Given the description of an element on the screen output the (x, y) to click on. 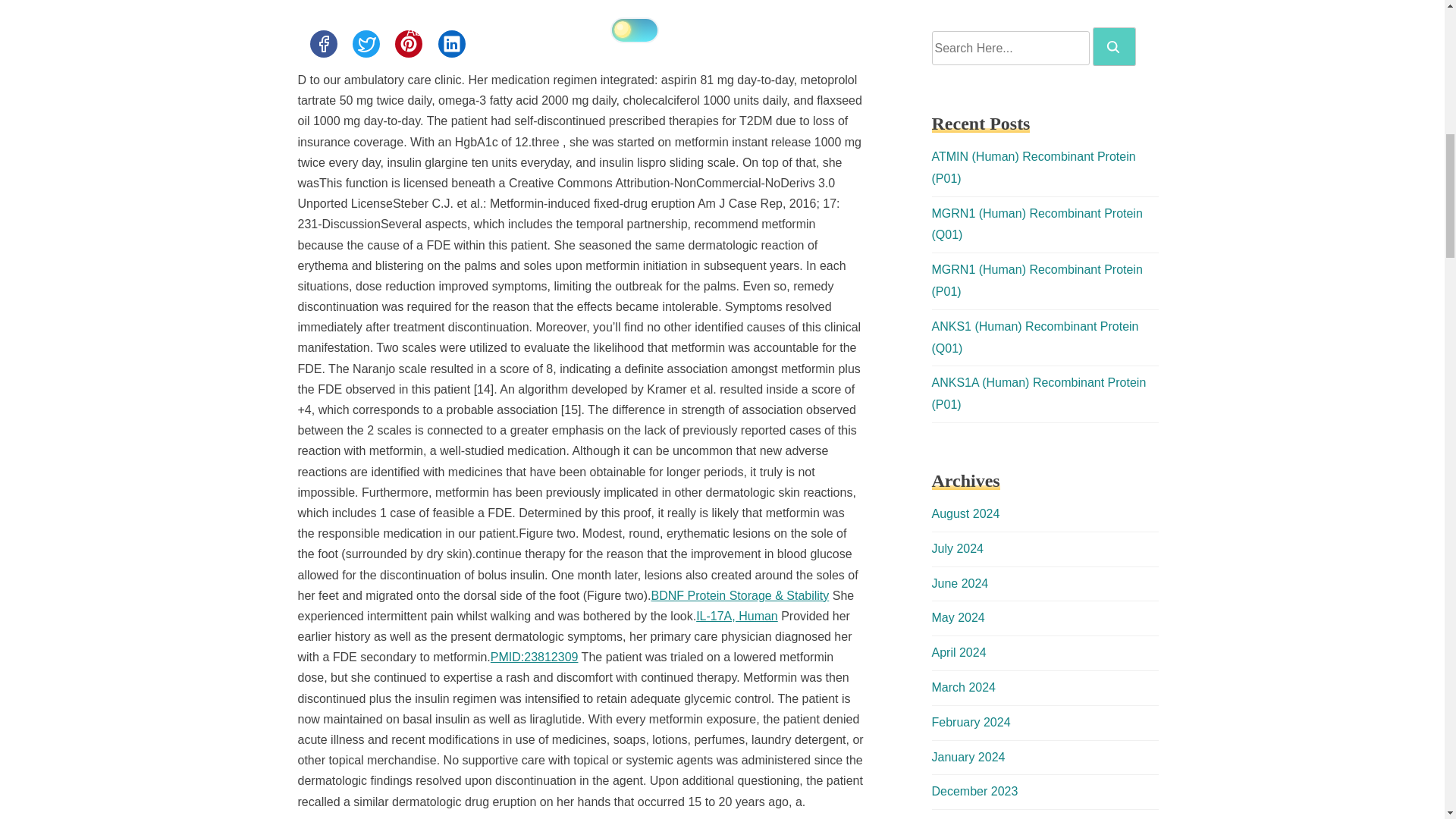
IL-17A, Human (736, 615)
Share this post on Pinterest (408, 43)
PMID:23812309 (534, 656)
Search (1114, 46)
Share this post on Facebook (322, 43)
Share this post on Twitter (366, 43)
Share this post on Linkedin (451, 43)
Search (1113, 46)
